Given the description of an element on the screen output the (x, y) to click on. 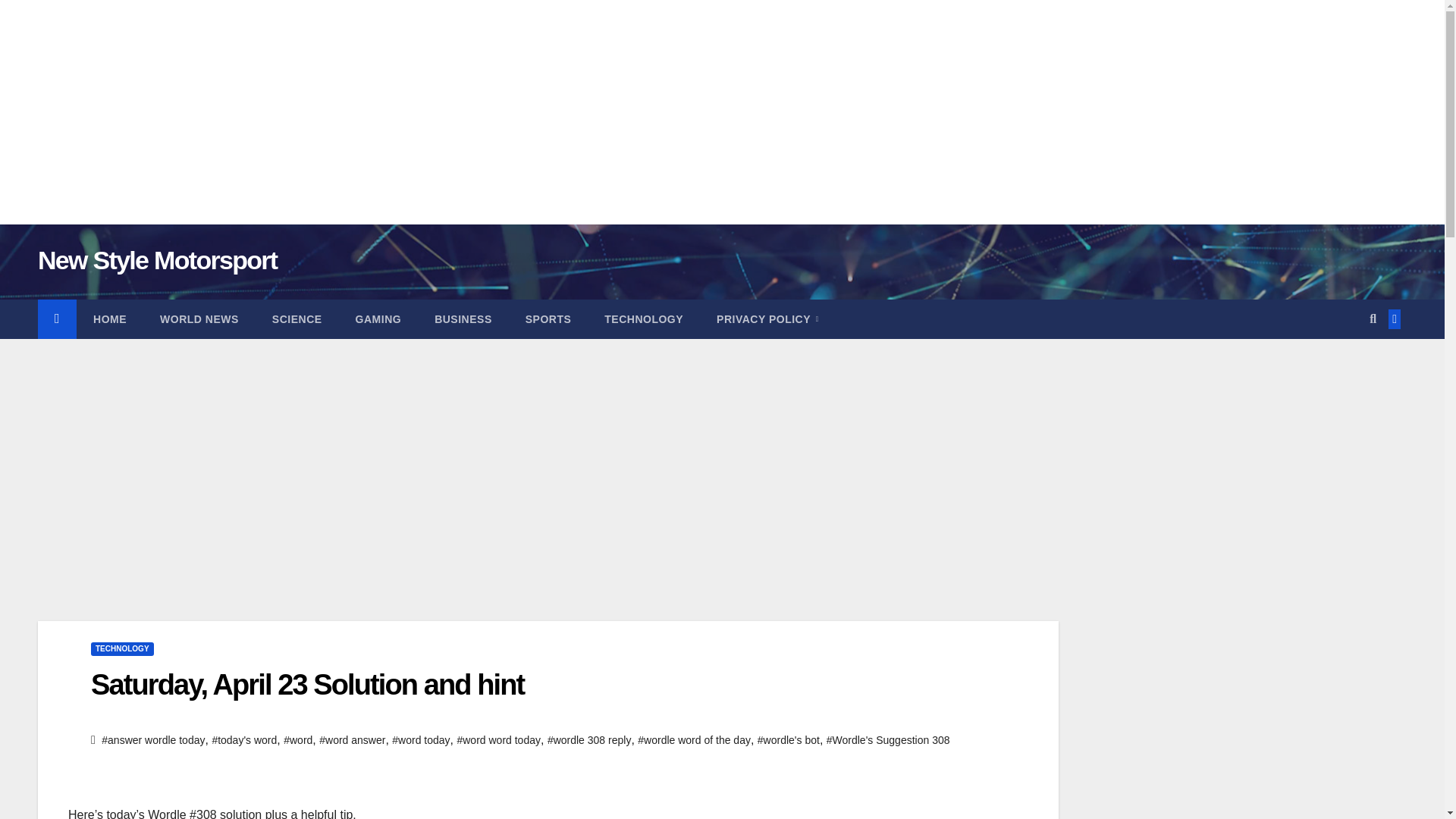
New Style Motorsport (156, 259)
SCIENCE (297, 319)
World News (199, 319)
Home (109, 319)
Technology (644, 319)
Science (297, 319)
Gaming (379, 319)
Permalink to: Saturday, April 23 Solution and hint (307, 685)
SPORTS (548, 319)
PRIVACY POLICY (767, 319)
